Given the description of an element on the screen output the (x, y) to click on. 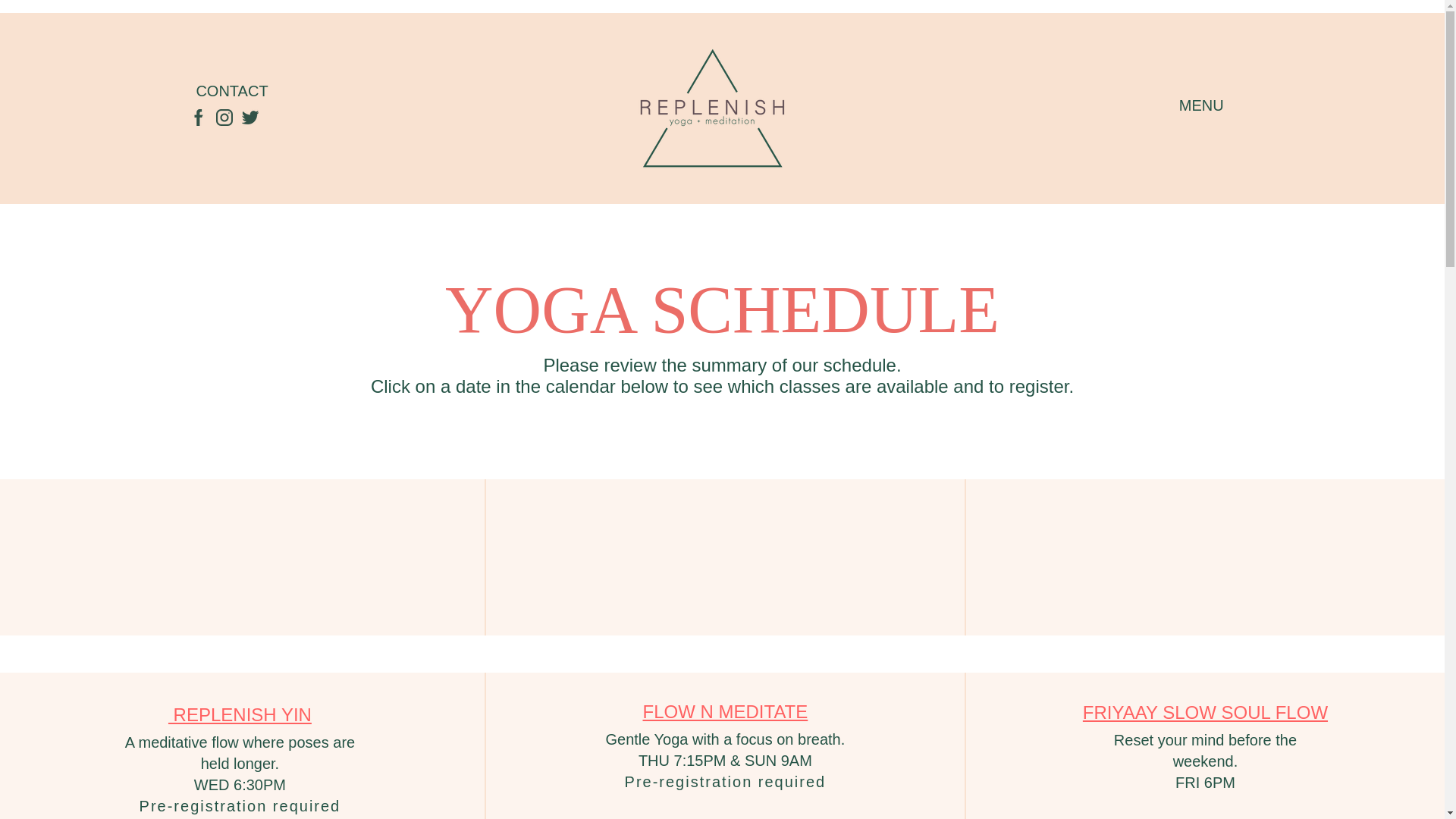
MENU (1201, 105)
 REPLENISH YIN (239, 716)
CONTACT (231, 90)
